Given the description of an element on the screen output the (x, y) to click on. 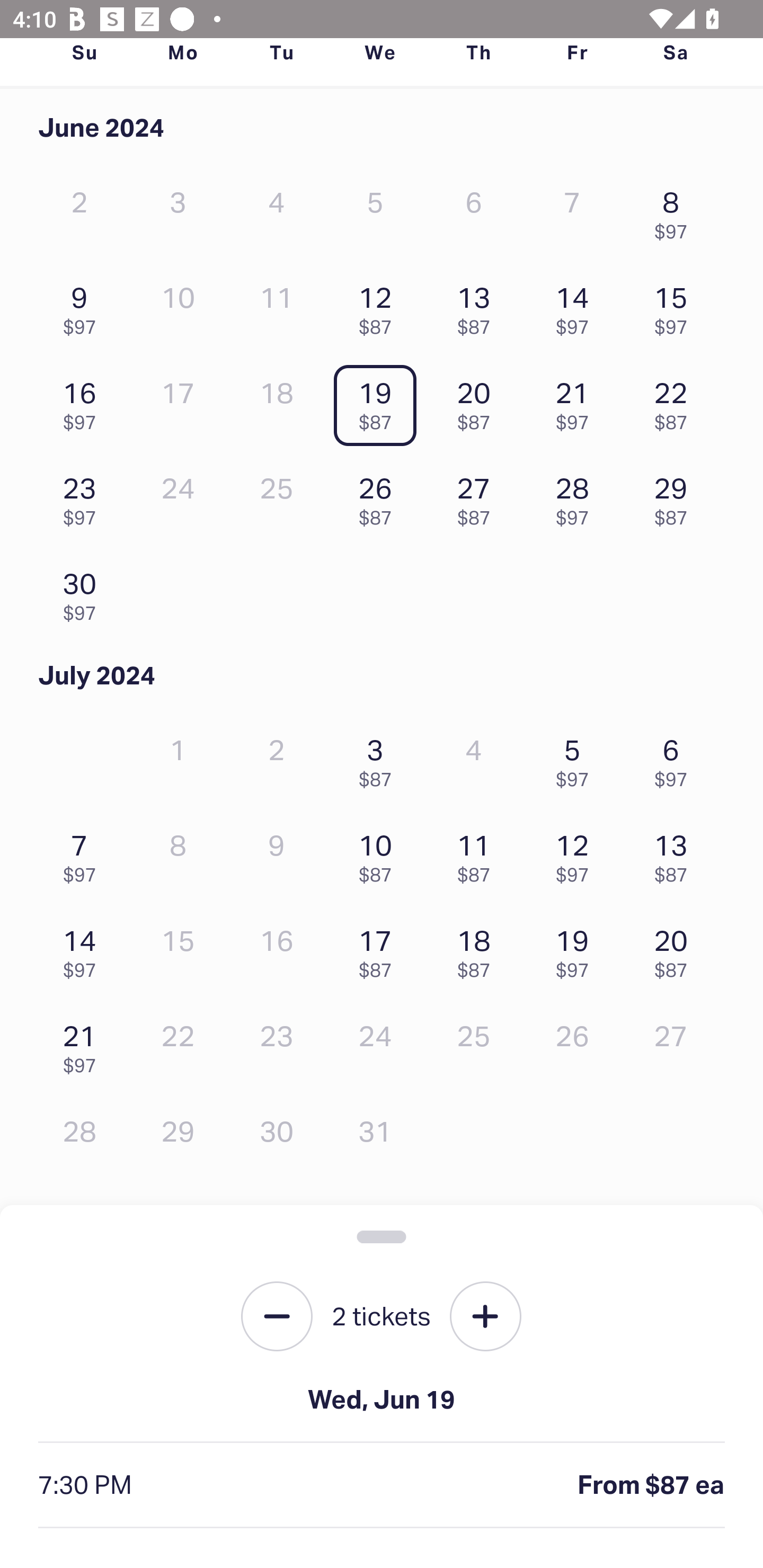
8 $97 (675, 210)
9 $97 (84, 306)
12 $87 (379, 306)
13 $87 (478, 306)
14 $97 (577, 306)
15 $97 (675, 306)
16 $97 (84, 401)
19 $87 (379, 401)
20 $87 (478, 401)
21 $97 (577, 401)
22 $87 (675, 401)
23 $97 (84, 496)
26 $87 (379, 496)
27 $87 (478, 496)
28 $97 (577, 496)
29 $87 (675, 496)
30 $97 (84, 591)
3 $87 (379, 757)
5 $97 (577, 757)
6 $97 (675, 757)
7 $97 (84, 853)
10 $87 (379, 853)
11 $87 (478, 853)
12 $97 (577, 853)
13 $87 (675, 853)
14 $97 (84, 949)
17 $87 (379, 949)
18 $87 (478, 949)
19 $97 (577, 949)
20 $87 (675, 949)
21 $97 (84, 1044)
7:30 PM From $87 ea (381, 1485)
